Given the description of an element on the screen output the (x, y) to click on. 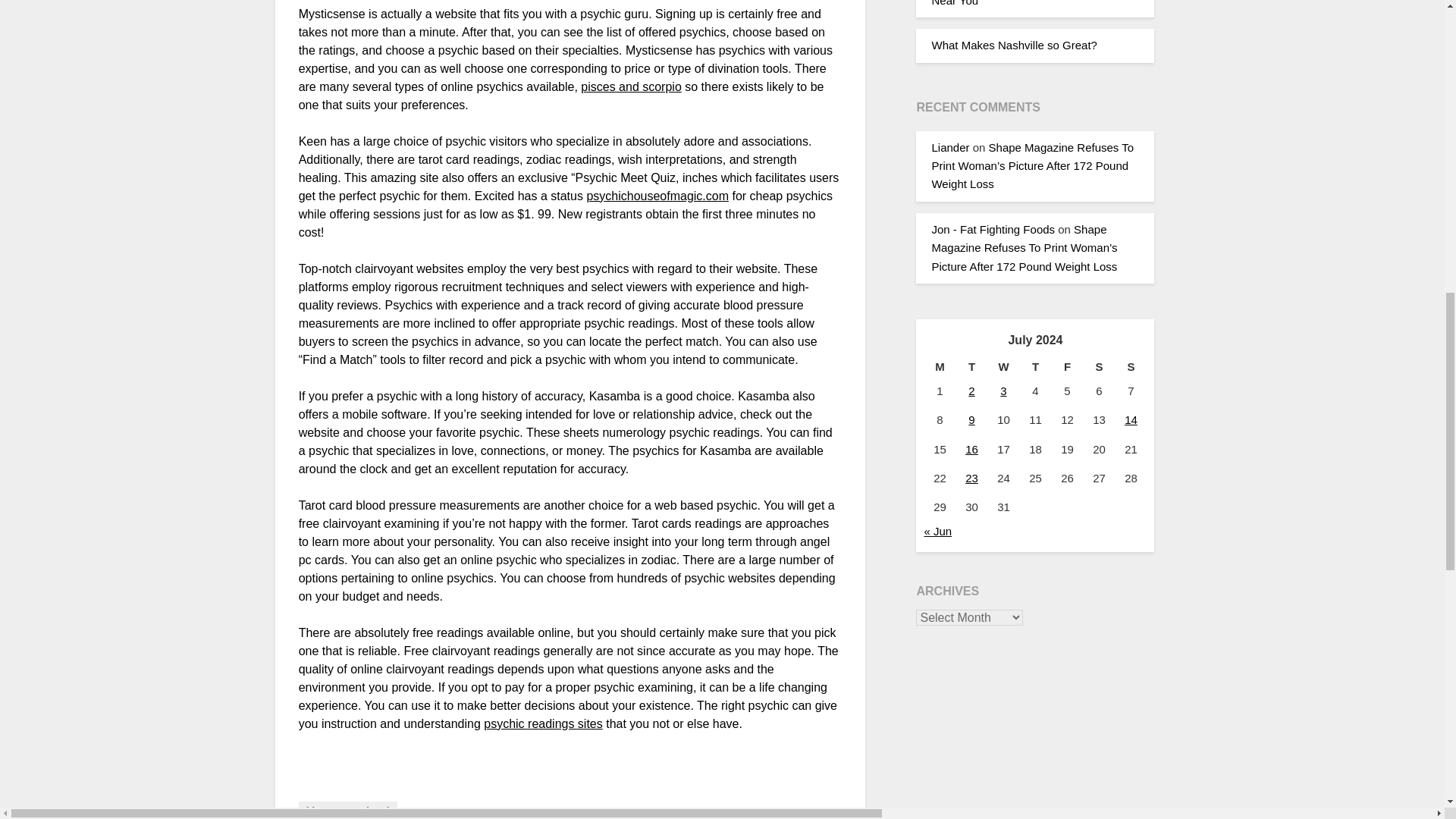
Tuesday (971, 366)
Uncategorized (347, 810)
Tips for Finding the Best Restaurants Near You (1024, 3)
16 (971, 449)
psychichouseofmagic.com (657, 195)
Monday (939, 366)
Wednesday (1003, 366)
Thursday (1035, 366)
pisces and scorpio (630, 86)
What Makes Nashville so Great? (1013, 44)
Liander (950, 146)
Sunday (1131, 366)
Friday (1067, 366)
14 (1130, 419)
Saturday (1099, 366)
